Given the description of an element on the screen output the (x, y) to click on. 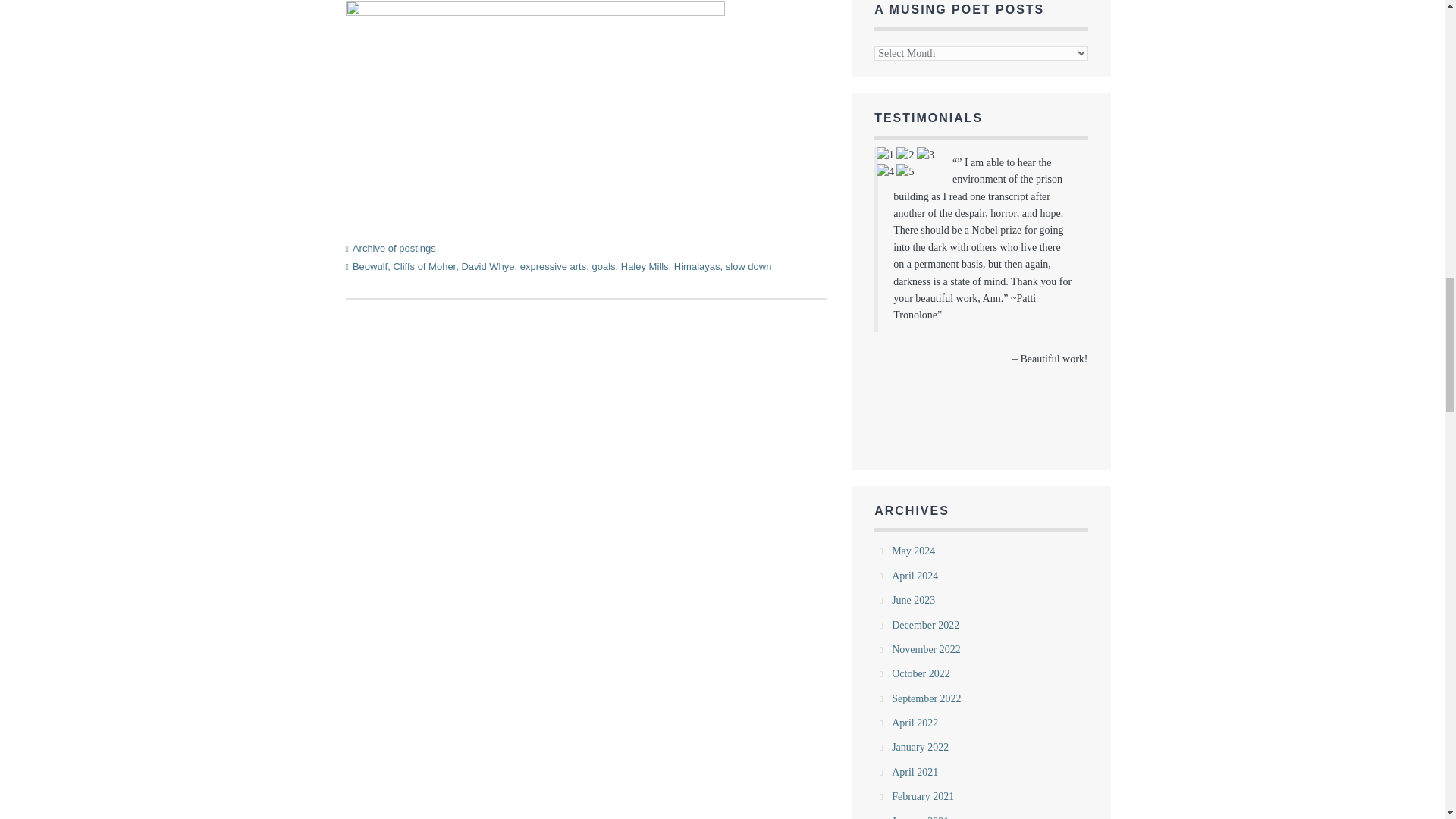
David Whye (487, 266)
slow down (748, 266)
gorgeous (905, 171)
gorgeous (905, 155)
Cliffs of Moher (424, 266)
Himalayas (697, 266)
Haley Mills (644, 266)
Beowulf (369, 266)
gorgeous (884, 155)
expressive arts (552, 266)
gorgeous (925, 155)
goals (602, 266)
gorgeous (884, 171)
gorgeous (914, 163)
Archive of postings (393, 247)
